Given the description of an element on the screen output the (x, y) to click on. 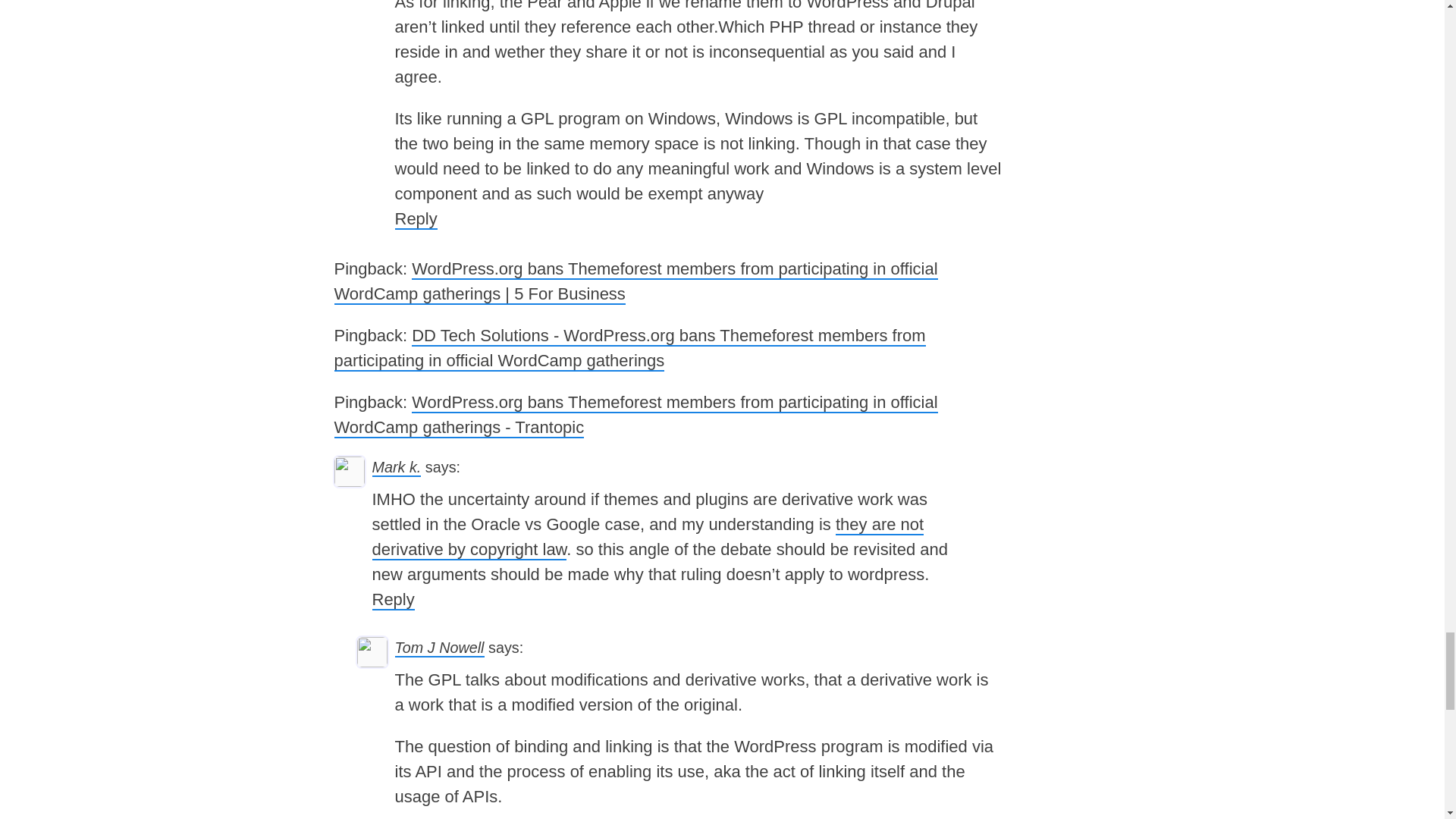
Reply (392, 599)
Mark k. (395, 467)
Reply (415, 219)
Tom J Nowell (438, 648)
they are not derivative by copyright law (647, 537)
